Given the description of an element on the screen output the (x, y) to click on. 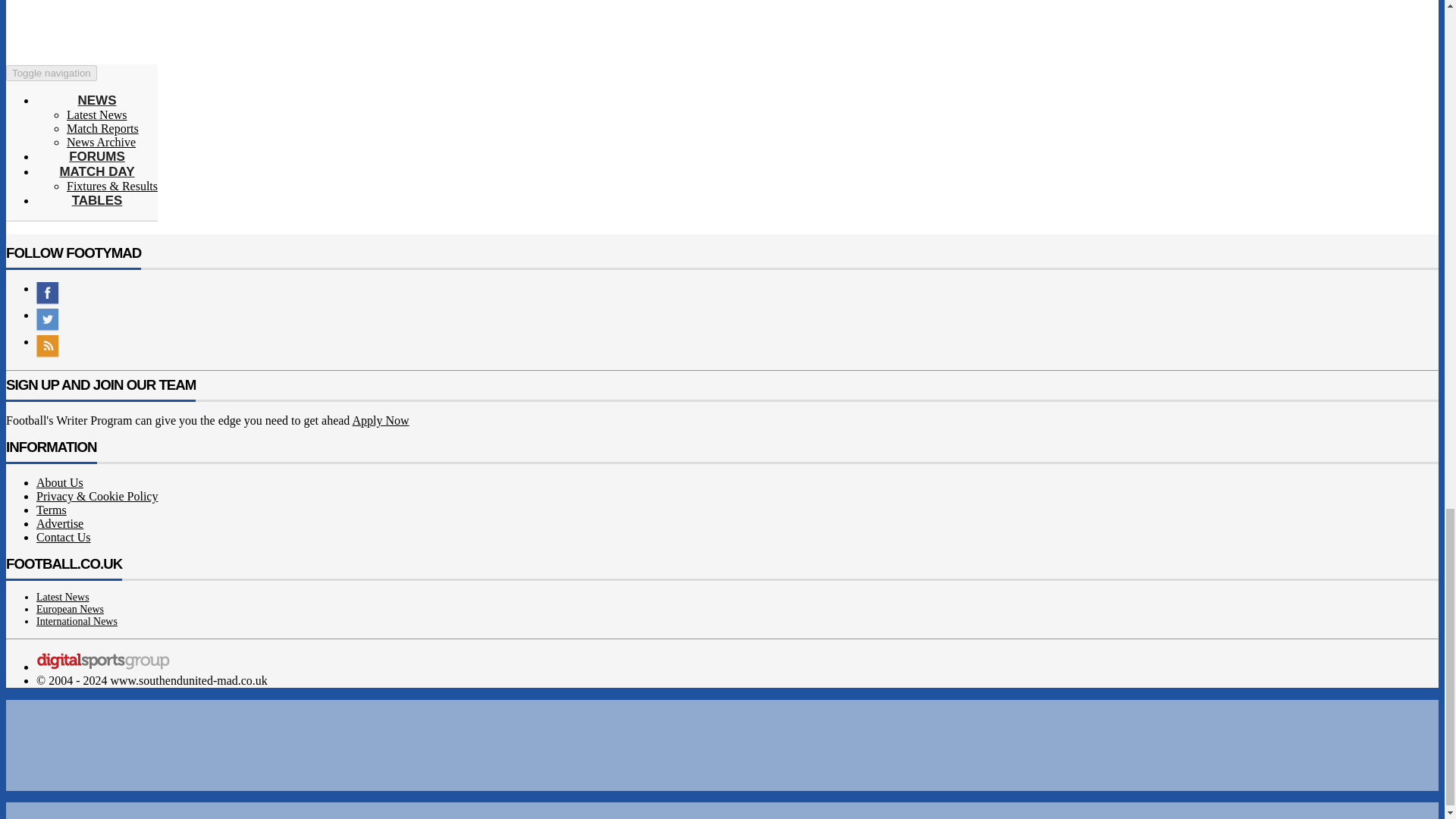
Advertise on footymad.net (59, 522)
footymad.net Terms and Conditions (51, 509)
Contact us (63, 536)
About us (59, 481)
